Given the description of an element on the screen output the (x, y) to click on. 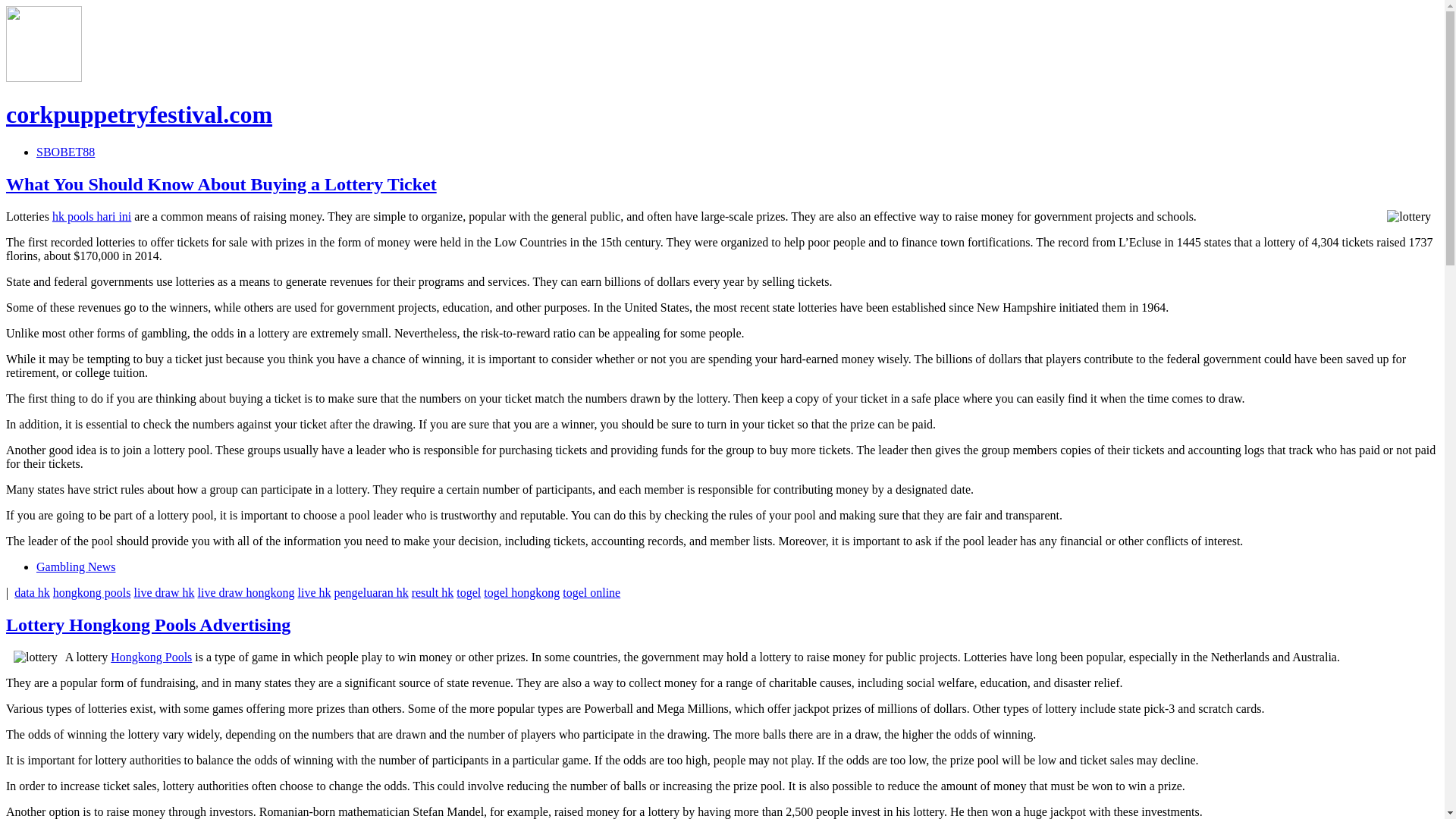
hk pools hari ini (91, 215)
togel online (591, 592)
corkpuppetryfestival.com (138, 113)
What You Should Know About Buying a Lottery Ticket (220, 184)
Lottery Hongkong Pools Advertising (147, 624)
live hk (313, 592)
data hk (31, 592)
result hk (433, 592)
SBOBET88 (65, 151)
hongkong pools (91, 592)
live draw hongkong (246, 592)
corkpuppetryfestival.com (138, 113)
Lottery Hongkong Pools Advertising (147, 624)
togel (468, 592)
Hongkong Pools (151, 656)
